Given the description of an element on the screen output the (x, y) to click on. 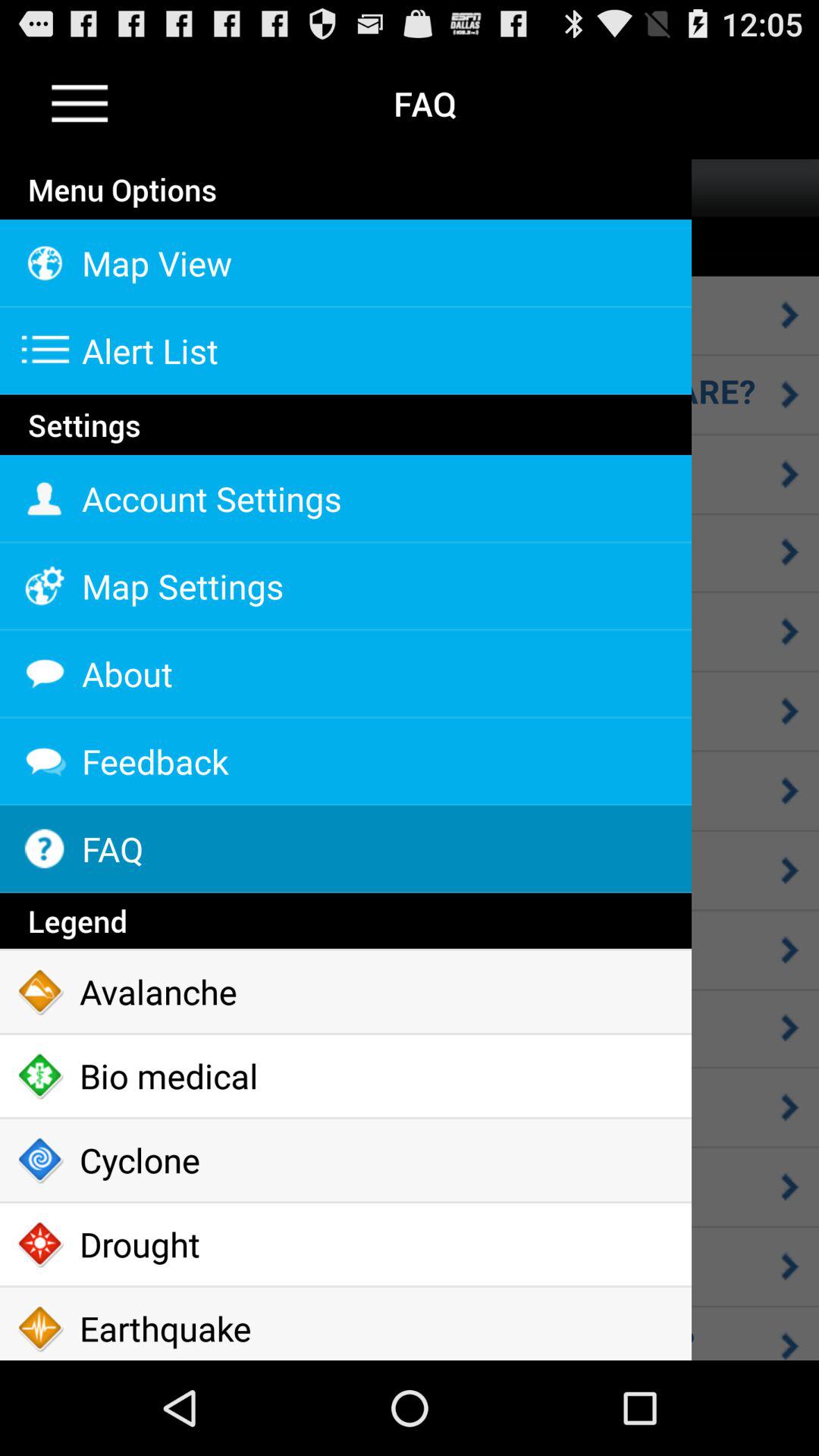
menu options button (79, 103)
